Given the description of an element on the screen output the (x, y) to click on. 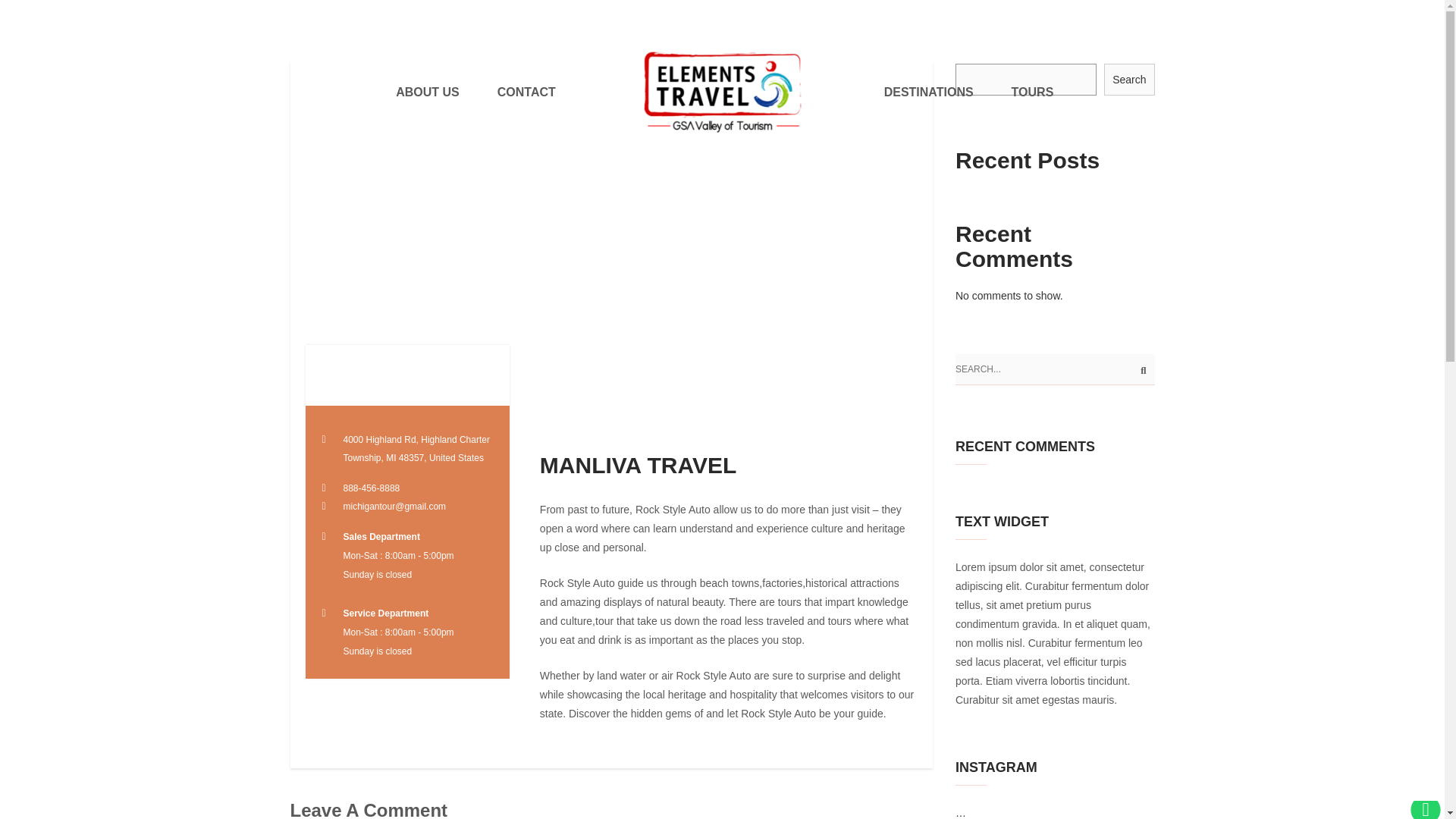
CONTACT (526, 92)
DESTINATIONS (928, 92)
ABOUT US (428, 92)
Search (1128, 79)
TOURS (1032, 92)
Elements Travel (722, 91)
